Given the description of an element on the screen output the (x, y) to click on. 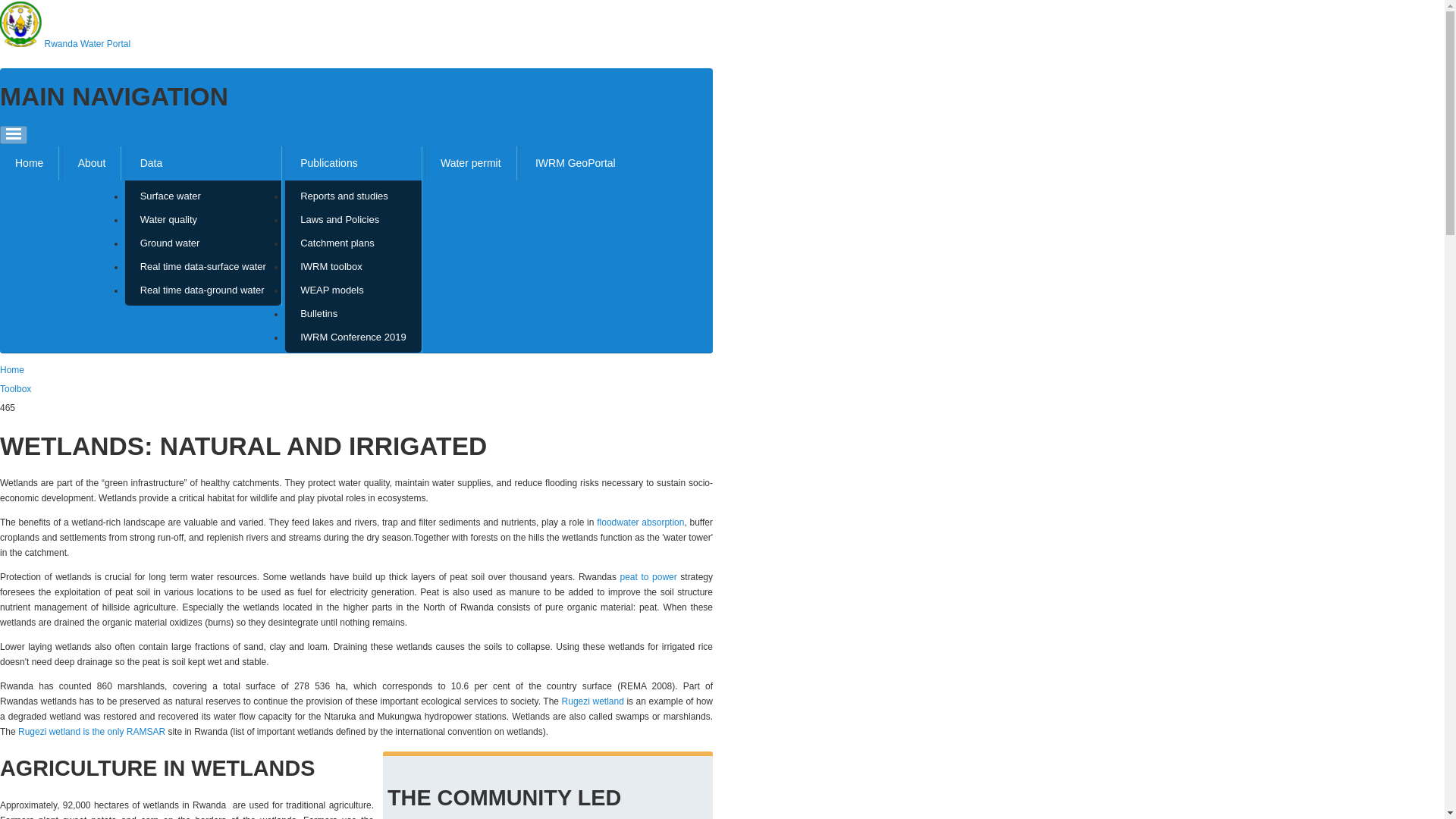
Ground water (203, 242)
IWRM geoportal (574, 163)
Data (203, 163)
Catchment plans (352, 242)
floodwater absorption (640, 521)
IWRM Conference 2019 (352, 336)
Home (88, 43)
Toolbox (15, 388)
IWRM GeoPortal (574, 163)
